Given the description of an element on the screen output the (x, y) to click on. 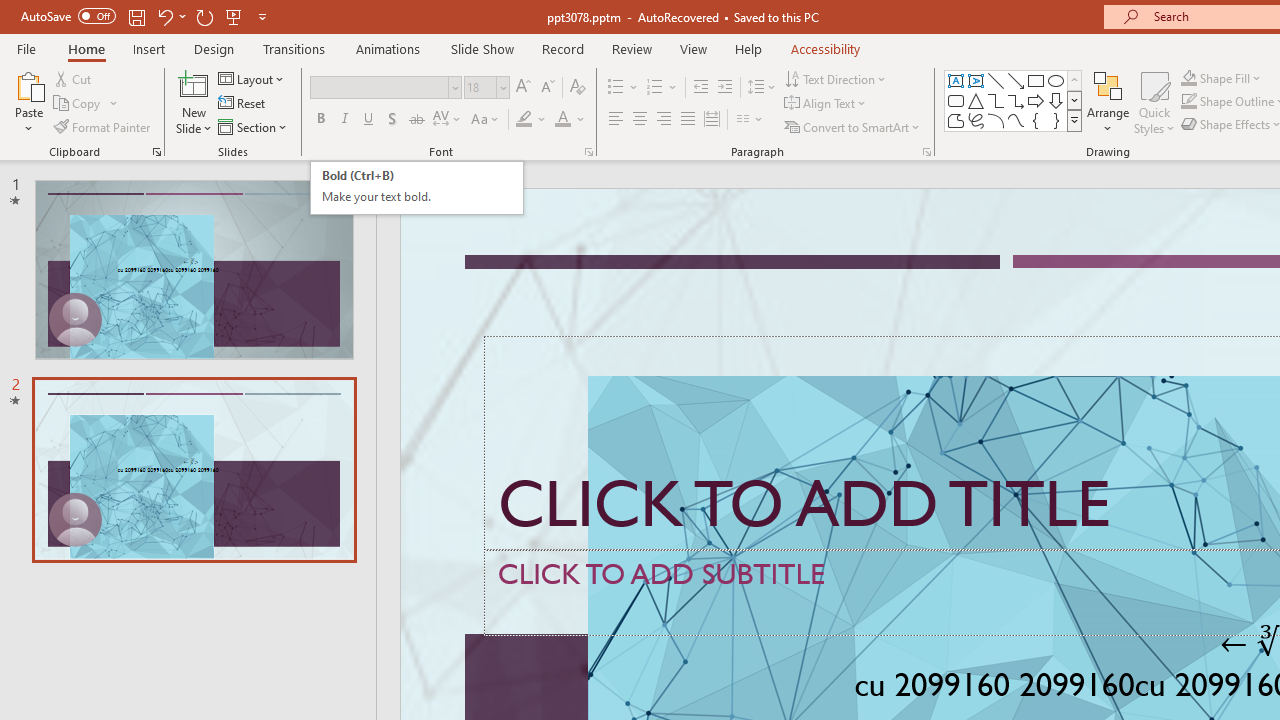
Convert to SmartArt (853, 126)
Shape Fill (1221, 78)
Align Left (616, 119)
Numbering (661, 87)
More Options (1232, 78)
AutoSave (68, 16)
Shape Outline Green, Accent 1 (1188, 101)
Change Case (486, 119)
Center (639, 119)
File Tab (26, 48)
Strikethrough (416, 119)
Connector: Elbow Arrow (1016, 100)
Font... (588, 151)
Paste (28, 102)
Slide (194, 469)
